Given the description of an element on the screen output the (x, y) to click on. 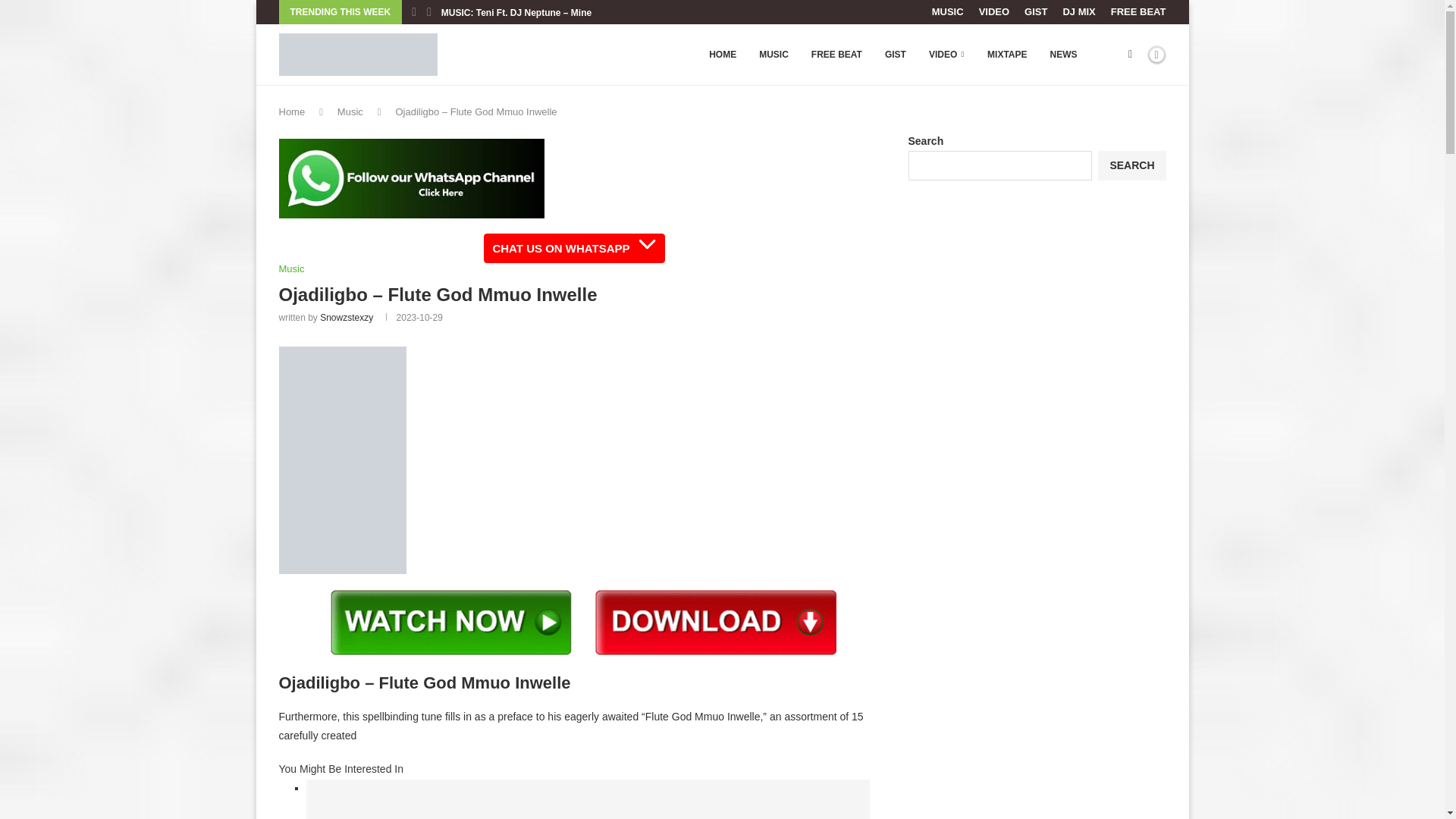
MIXTAPE (1006, 54)
Snowzstexzy (346, 317)
DJ MIX (1078, 12)
VIDEO (993, 12)
Music (291, 268)
FREE BEAT (1138, 12)
MUSIC (947, 12)
Home (292, 111)
CHAT US ON WHATSAPP (573, 247)
VIDEO (946, 54)
